Given the description of an element on the screen output the (x, y) to click on. 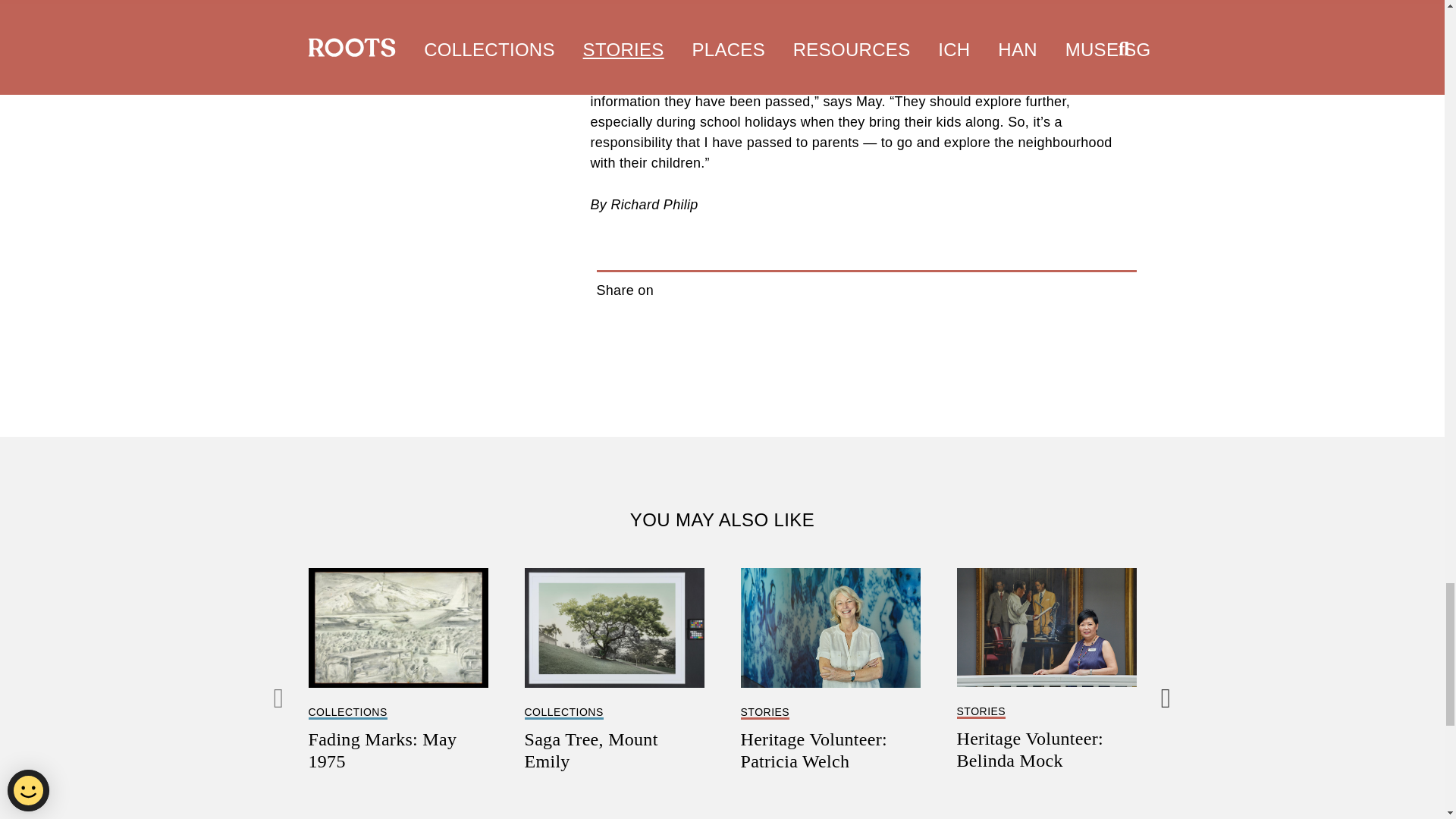
Cathay-Keris Studio (729, 2)
